Given the description of an element on the screen output the (x, y) to click on. 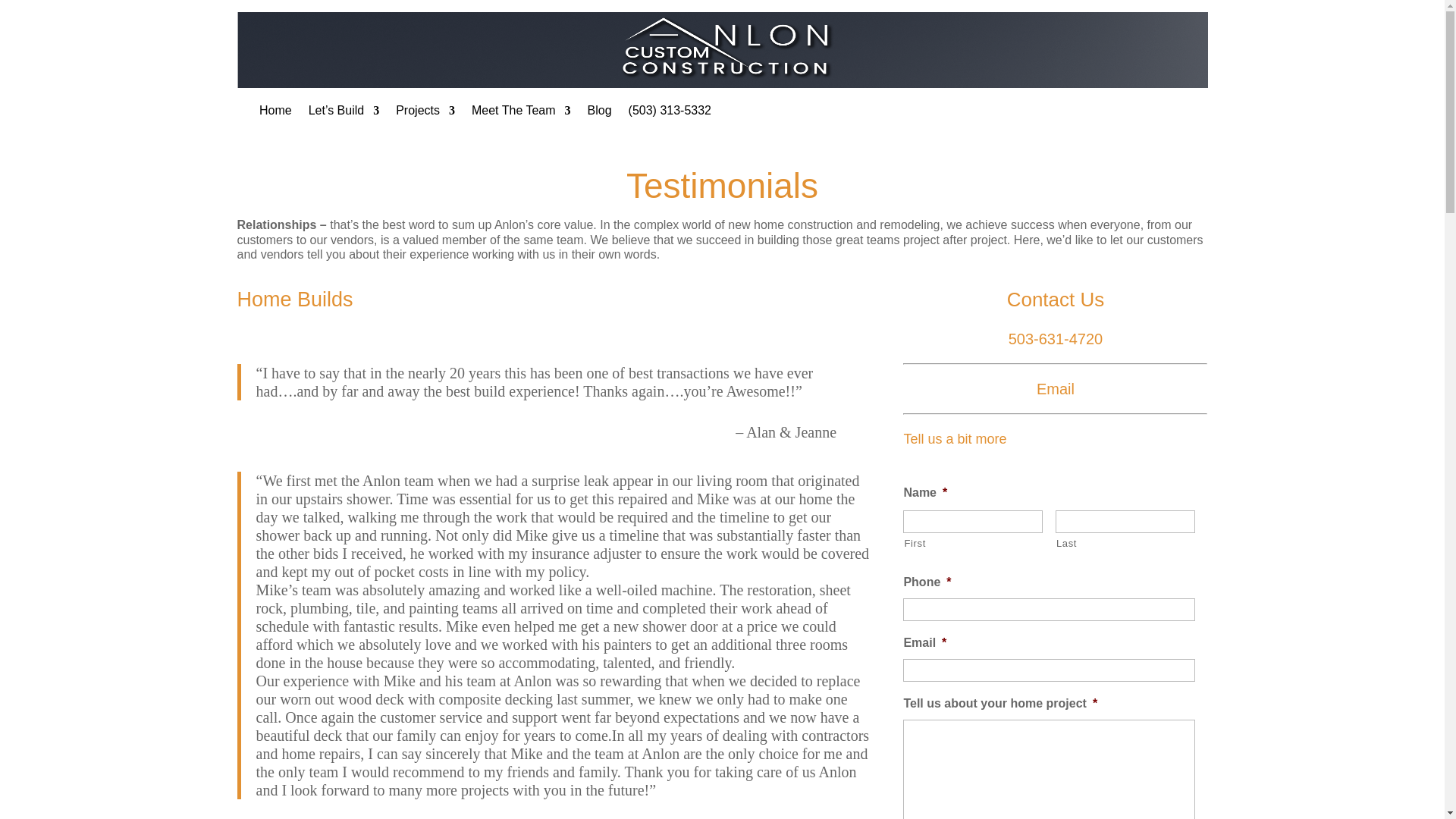
Blog (599, 113)
Home (275, 113)
Projects (425, 113)
Meet The Team (520, 113)
